Given the description of an element on the screen output the (x, y) to click on. 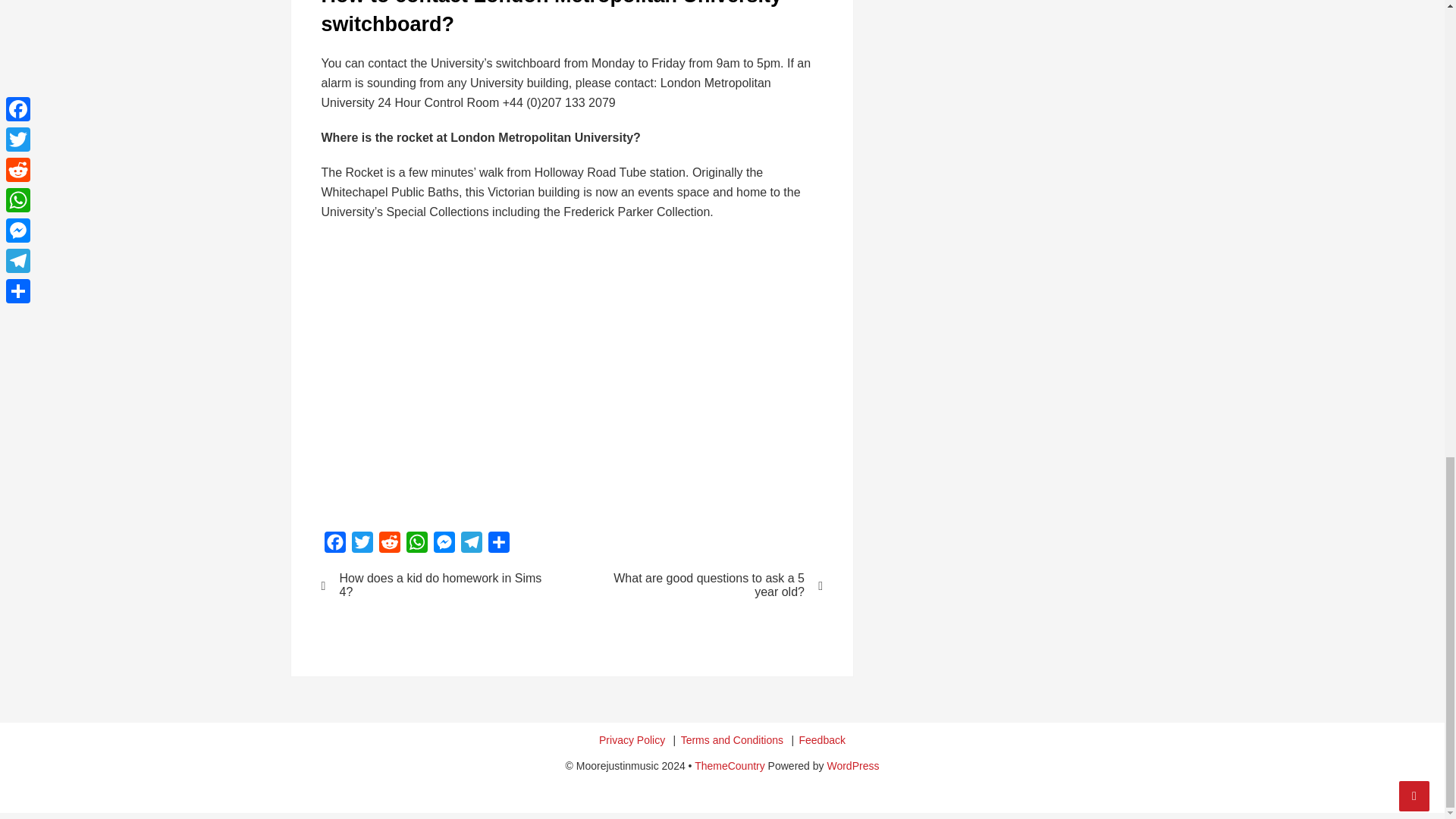
Terms and Conditions (732, 740)
Reddit (389, 545)
Share (498, 545)
Twitter (362, 545)
Facebook (335, 545)
Feedback (821, 740)
Privacy Policy (631, 740)
WhatsApp (416, 545)
Facebook (335, 545)
Telegram (471, 545)
WordPress (853, 766)
ThemeCountry (729, 766)
Holloway campus tour (563, 373)
What are good questions to ask a 5 year old? (707, 584)
Reddit (389, 545)
